Given the description of an element on the screen output the (x, y) to click on. 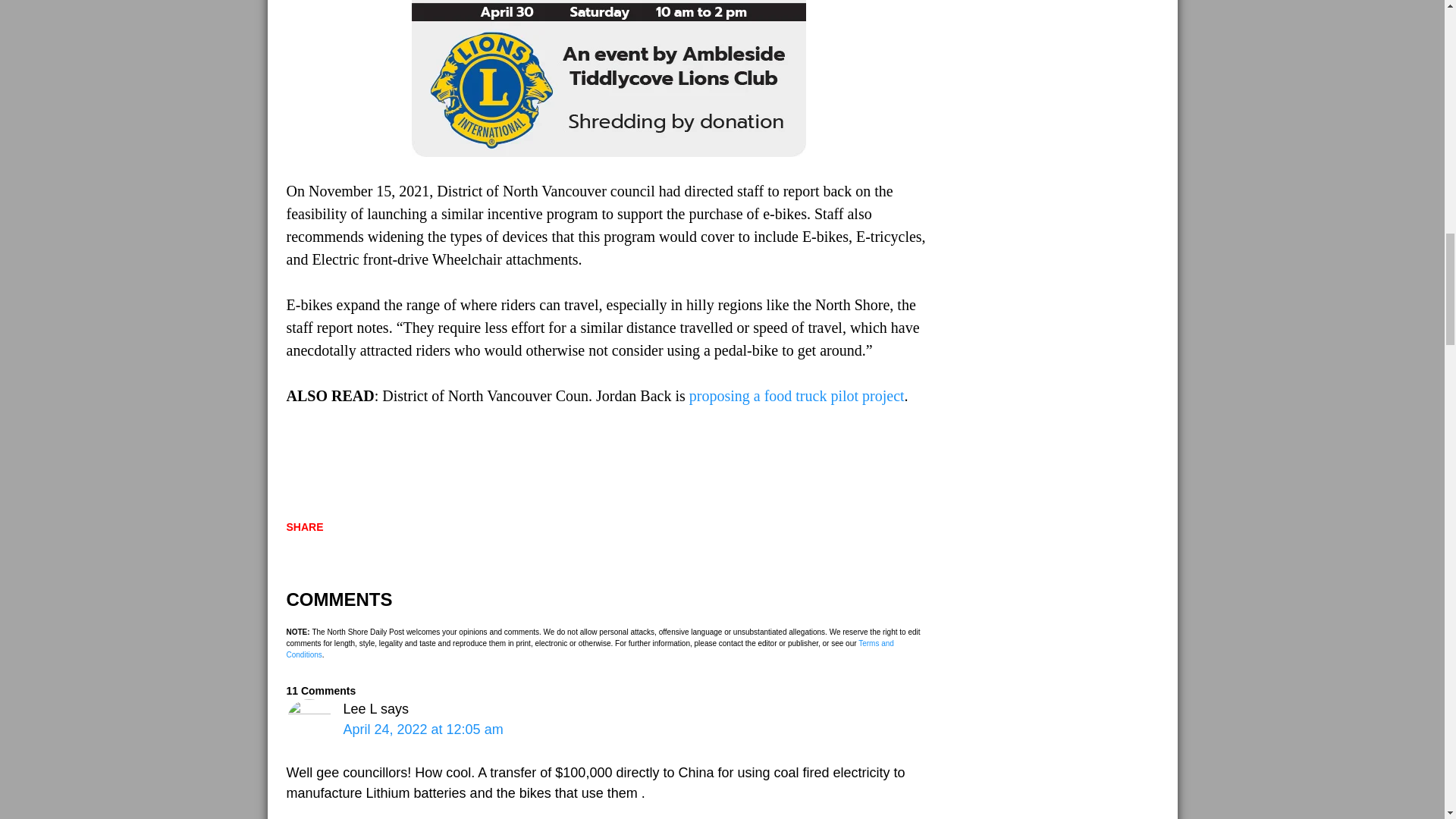
Terms and Conditions (589, 649)
proposing a food truck pilot project (796, 395)
April 24, 2022 at 12:05 am (422, 729)
